Given the description of an element on the screen output the (x, y) to click on. 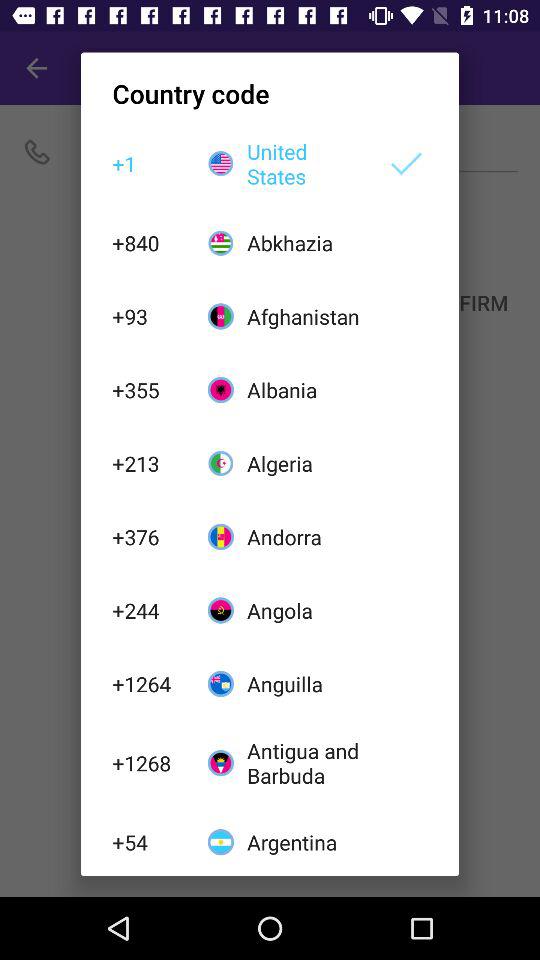
scroll until andorra item (305, 536)
